Given the description of an element on the screen output the (x, y) to click on. 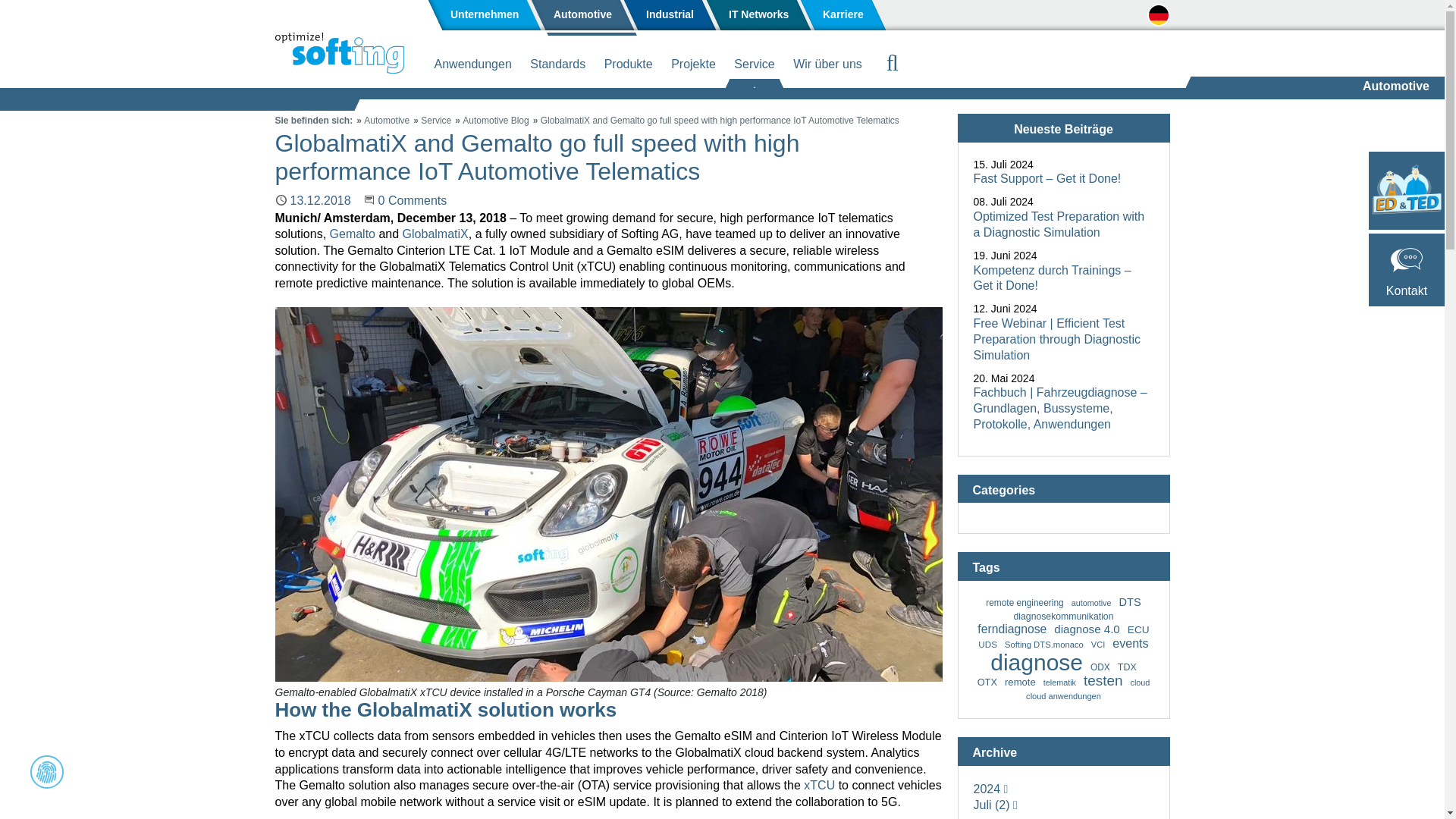
Automotive (581, 15)
Anwendungen (472, 67)
Industrial (669, 15)
Unternehmen (484, 15)
ODX ISO 22901-1 (608, 93)
Deutsch (1160, 15)
Karriere (843, 15)
IT Networks (758, 15)
Messen (608, 96)
Automotive Blog (495, 120)
Startseite (339, 52)
Diagnose Anwendungen (380, 96)
Standards (557, 67)
Diagnosetests und Funktionstests (835, 96)
